Given the description of an element on the screen output the (x, y) to click on. 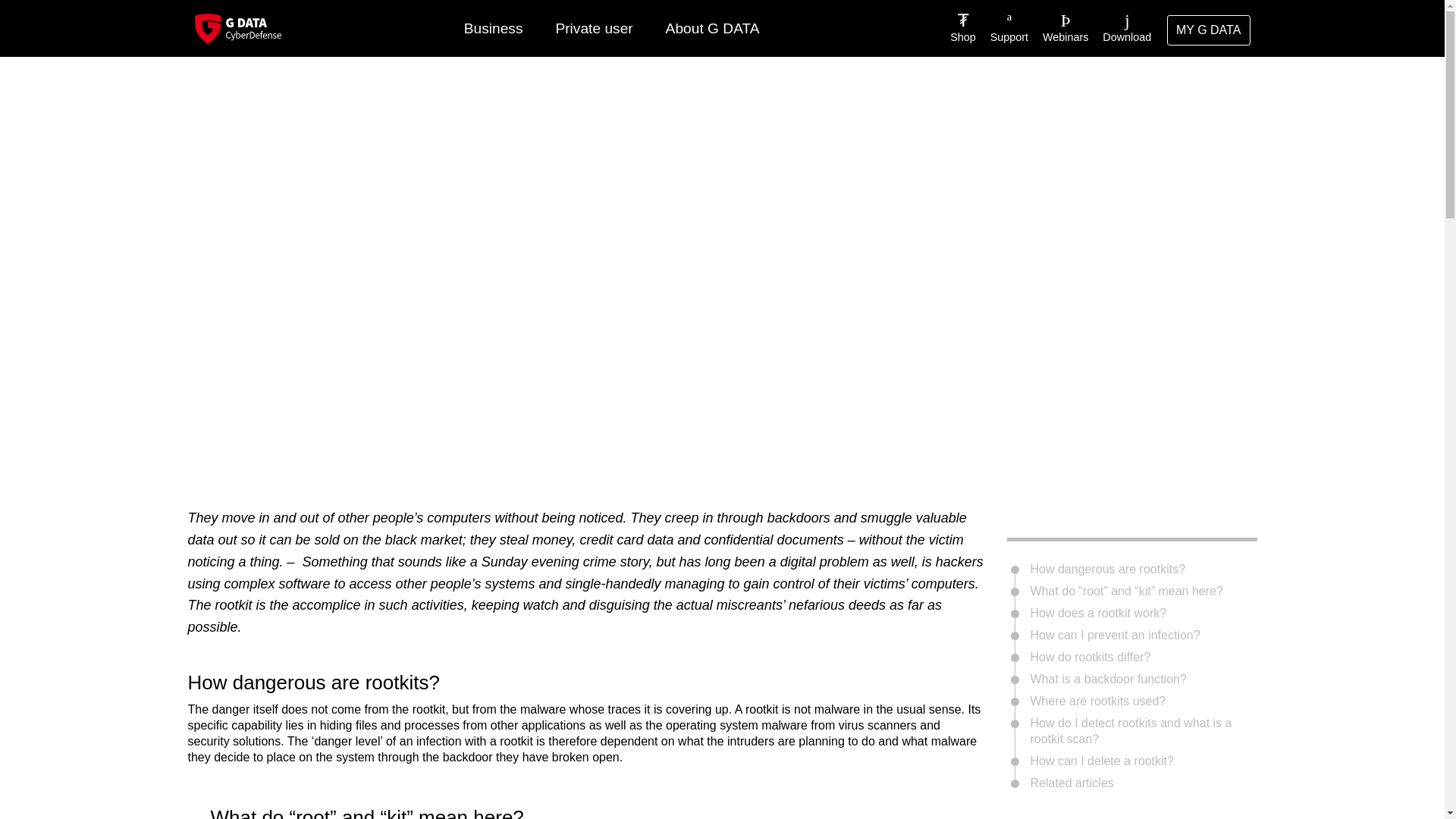
Webinars (1060, 28)
Download (1121, 28)
Business (492, 28)
MY G DATA (1208, 30)
Private user (593, 28)
Support (1002, 28)
About G DATA (711, 28)
